Given the description of an element on the screen output the (x, y) to click on. 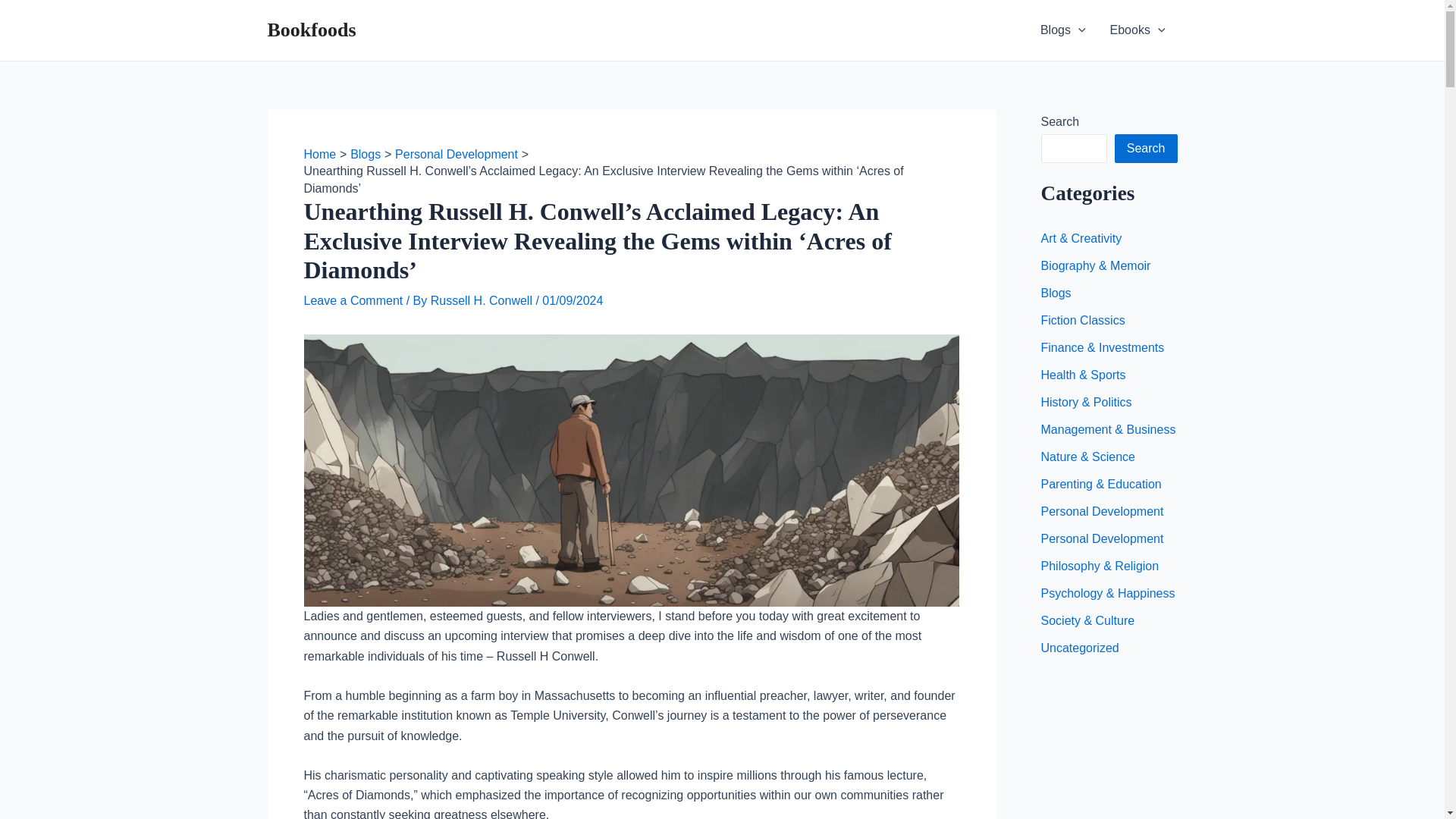
Blogs (1062, 30)
View all posts by Russell H. Conwell (482, 300)
Bookfoods (310, 29)
